Given the description of an element on the screen output the (x, y) to click on. 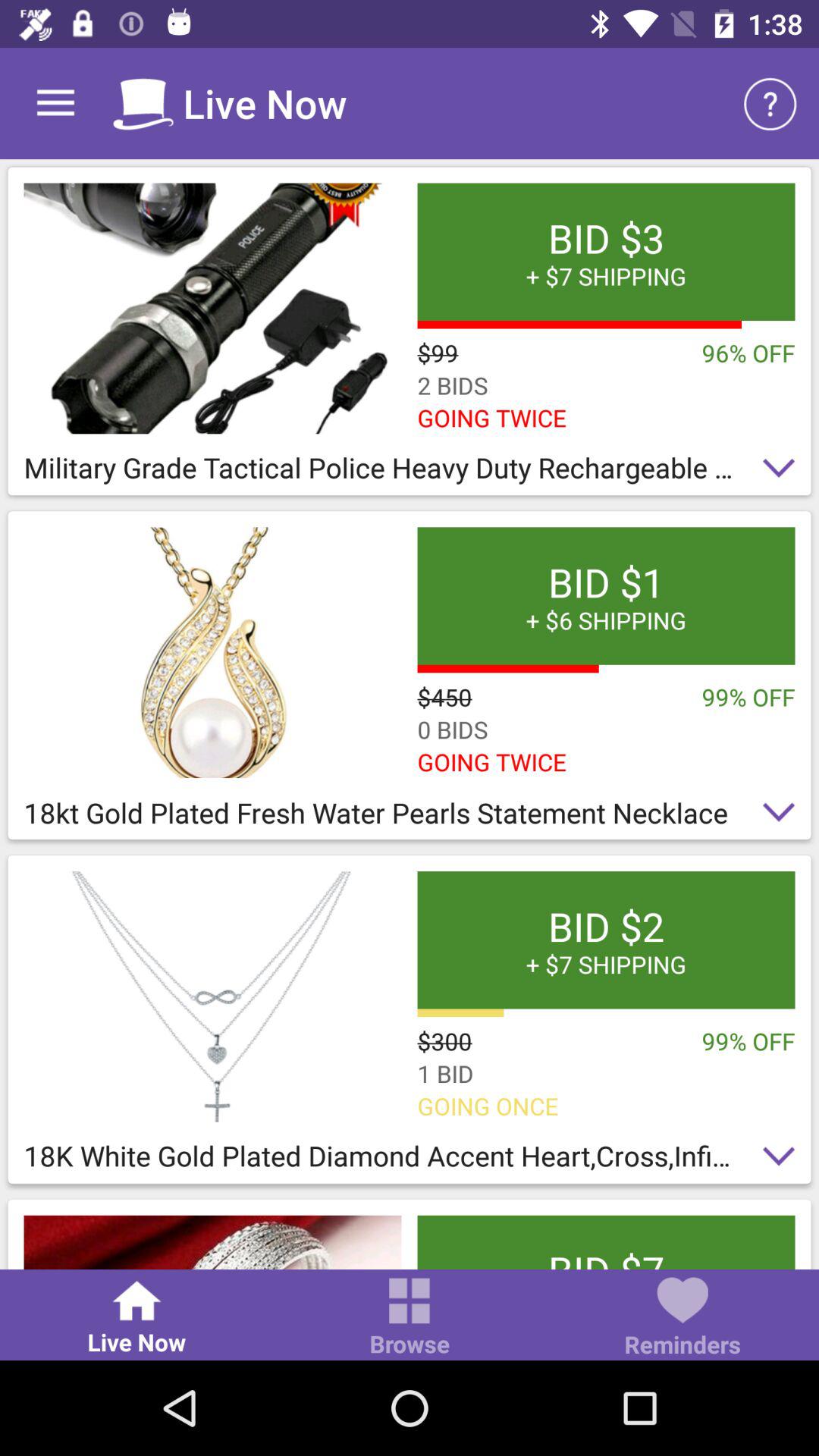
turn off icon next to live now icon (771, 103)
